Given the description of an element on the screen output the (x, y) to click on. 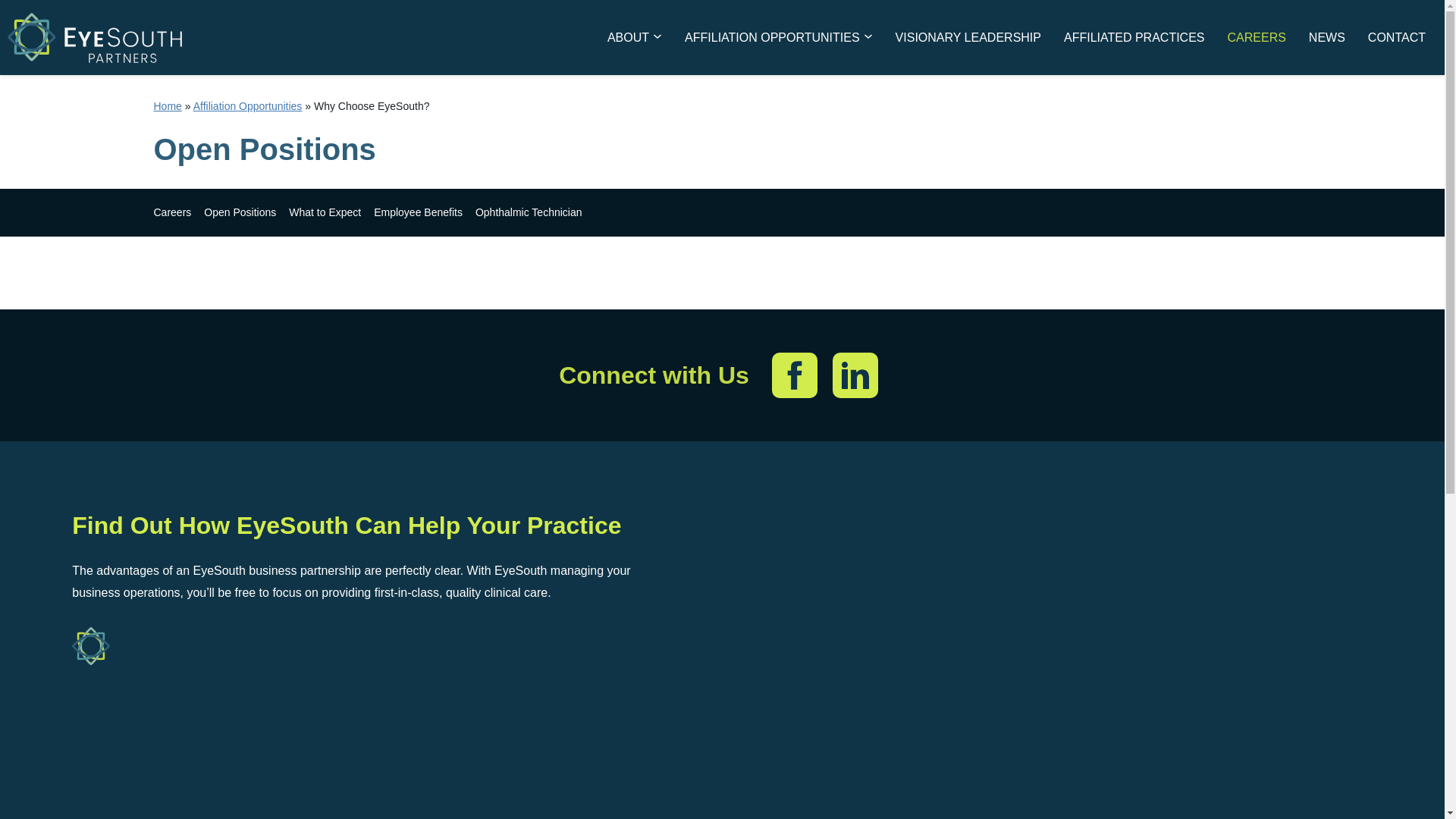
What to Expect (324, 212)
ABOUT (633, 37)
VISIONARY LEADERSHIP (967, 37)
Employee Benefits (418, 212)
AFFILIATED PRACTICES (1133, 37)
Affiliation Opportunities (247, 105)
Open Positions (239, 212)
NEWS (1326, 37)
Ophthalmic Technician (529, 212)
CONTACT (1396, 37)
Home (166, 105)
AFFILIATION OPPORTUNITIES (777, 37)
CAREERS (1256, 37)
Careers (171, 212)
